Given the description of an element on the screen output the (x, y) to click on. 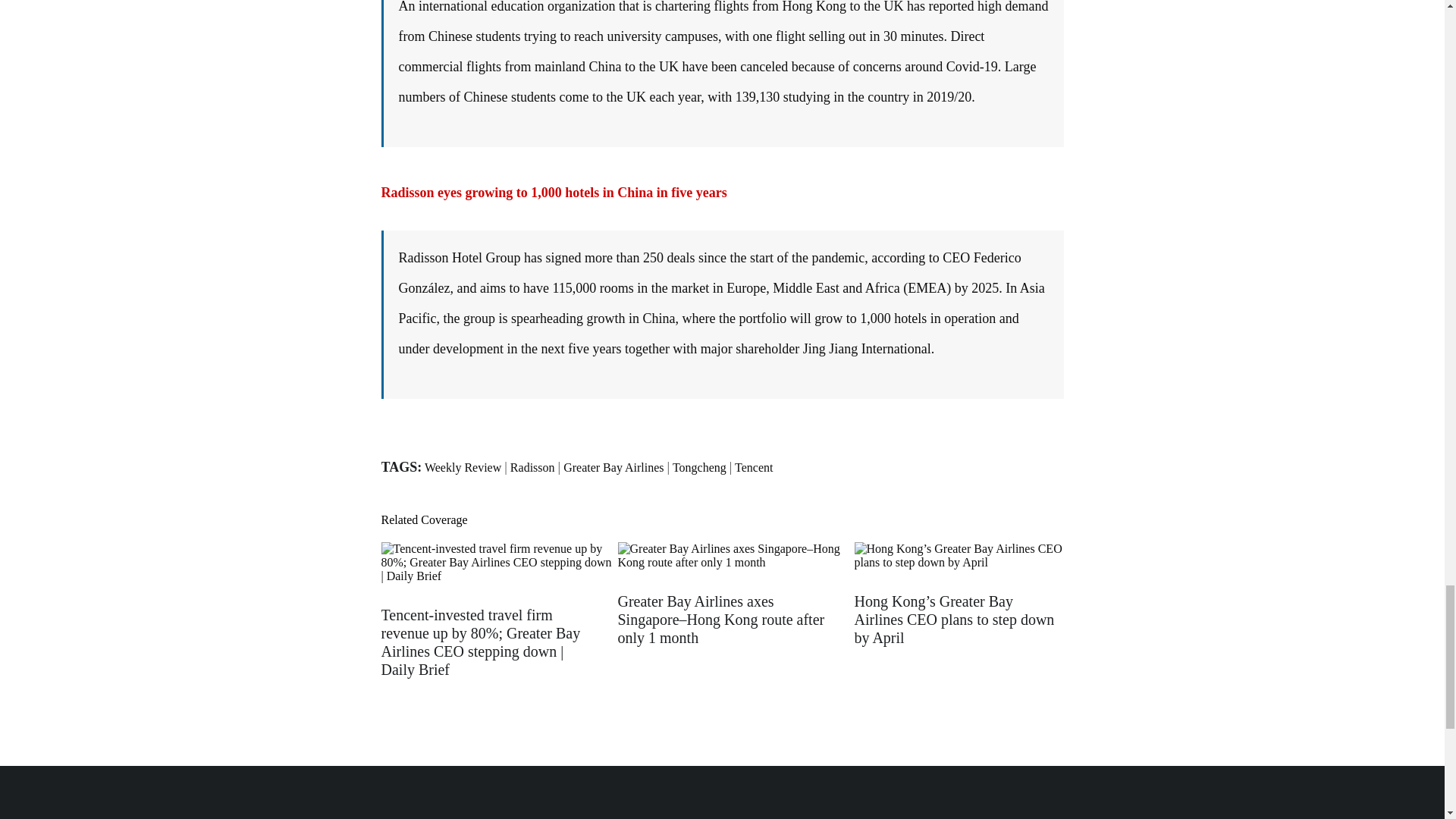
Radisson eyes growing to 1,000 hotels in China in five years (553, 192)
Weekly Review (462, 467)
Radisson (532, 467)
Tongcheng (699, 467)
Greater Bay Airlines (613, 467)
